Given the description of an element on the screen output the (x, y) to click on. 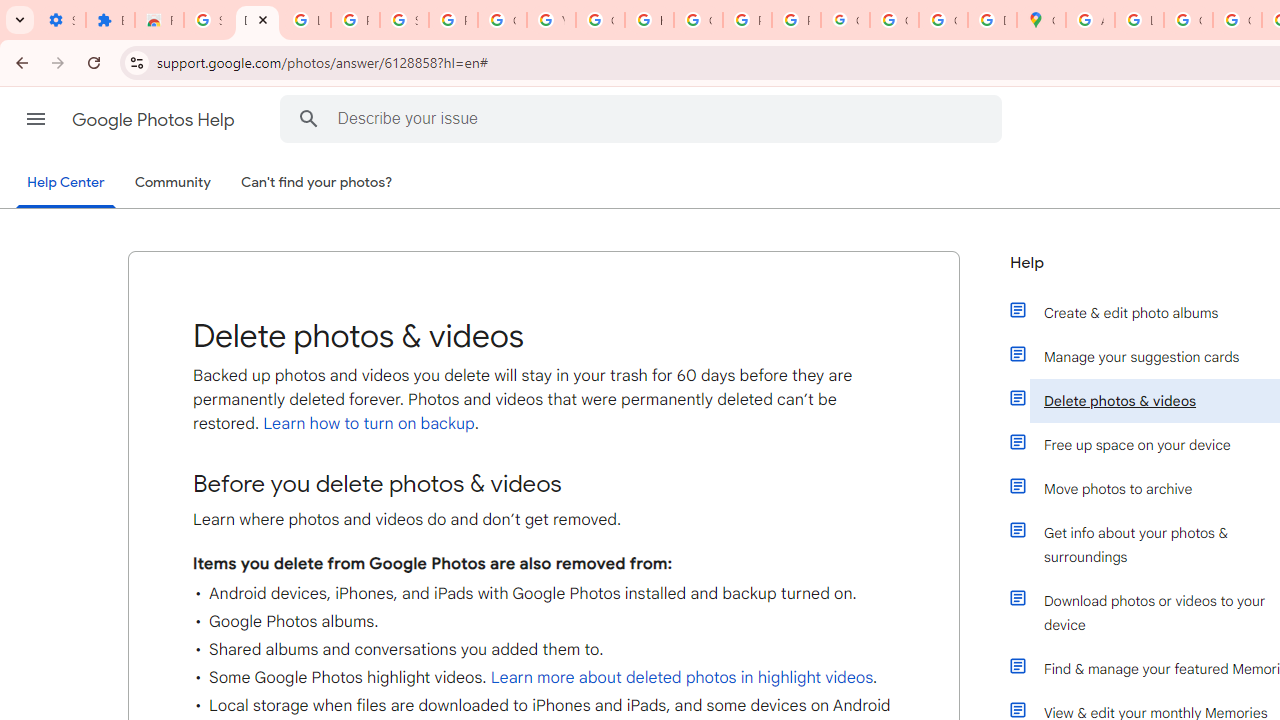
Google Maps (1041, 20)
Community (171, 183)
Search Help Center (309, 118)
https://scholar.google.com/ (649, 20)
Can't find your photos? (317, 183)
Describe your issue (644, 118)
